Given the description of an element on the screen output the (x, y) to click on. 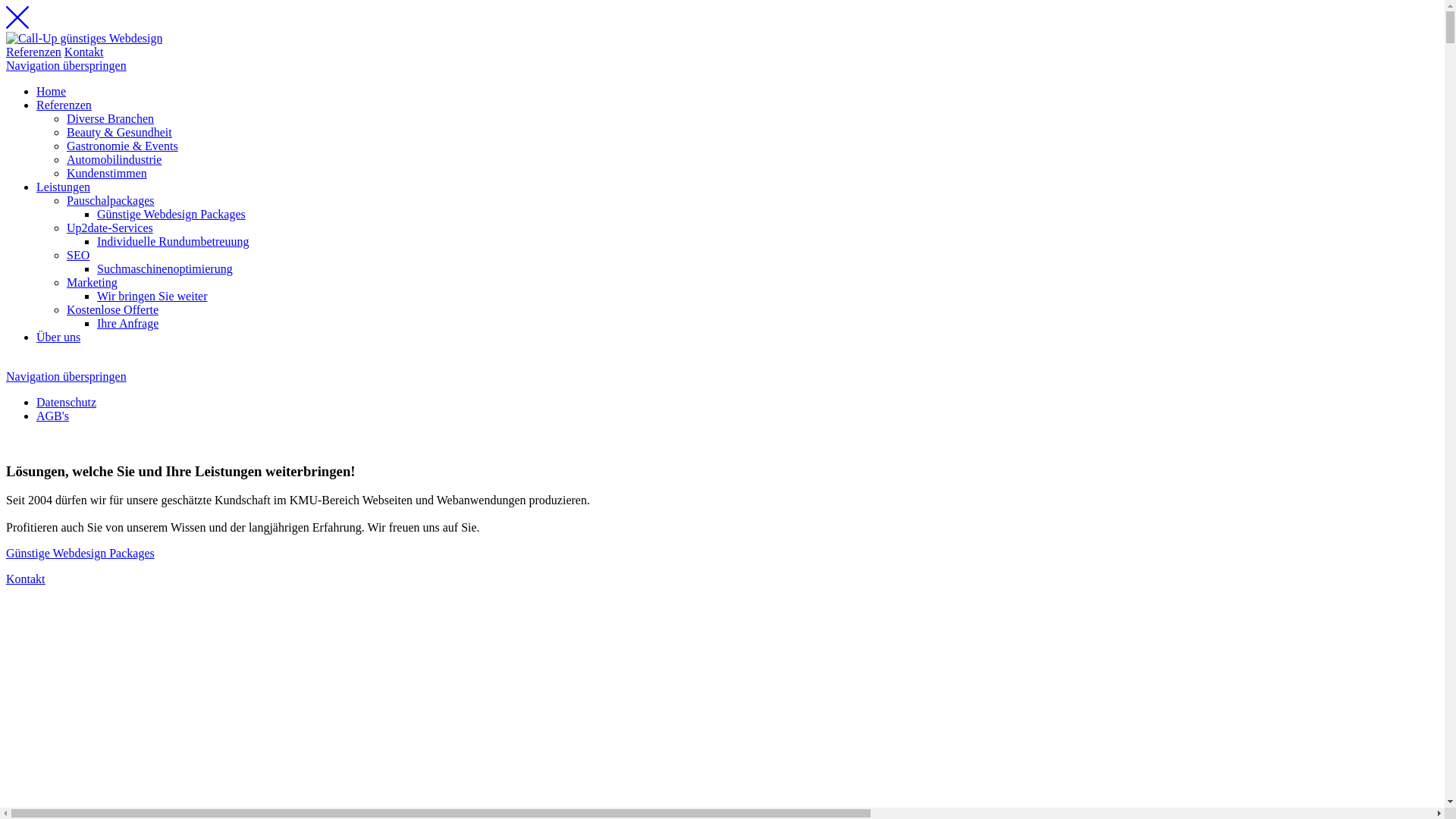
Beauty & Gesundheit Element type: text (119, 131)
Individuelle Rundumbetreuung Element type: text (172, 241)
Diverse Branchen Element type: text (109, 118)
SEO Element type: text (77, 254)
Referenzen Element type: text (33, 51)
Marketing Element type: text (91, 282)
  Element type: text (7, 441)
Up2date-Services Element type: text (109, 227)
Kontakt Element type: text (83, 51)
Home Element type: text (50, 90)
Referenzen Element type: text (63, 104)
Kundenstimmen Element type: text (106, 172)
Wir bringen Sie weiter Element type: text (152, 295)
AGB's Element type: text (52, 415)
  Element type: text (7, 362)
Suchmaschinenoptimierung Element type: text (164, 268)
Kostenlose Offerte Element type: text (112, 309)
Datenschutz Element type: text (66, 401)
Leistungen Element type: text (63, 186)
Kontakt Element type: text (25, 578)
Gastronomie & Events Element type: text (122, 145)
Ihre Anfrage Element type: text (127, 322)
Pauschalpackages Element type: text (110, 200)
Automobilindustrie Element type: text (113, 159)
